Given the description of an element on the screen output the (x, y) to click on. 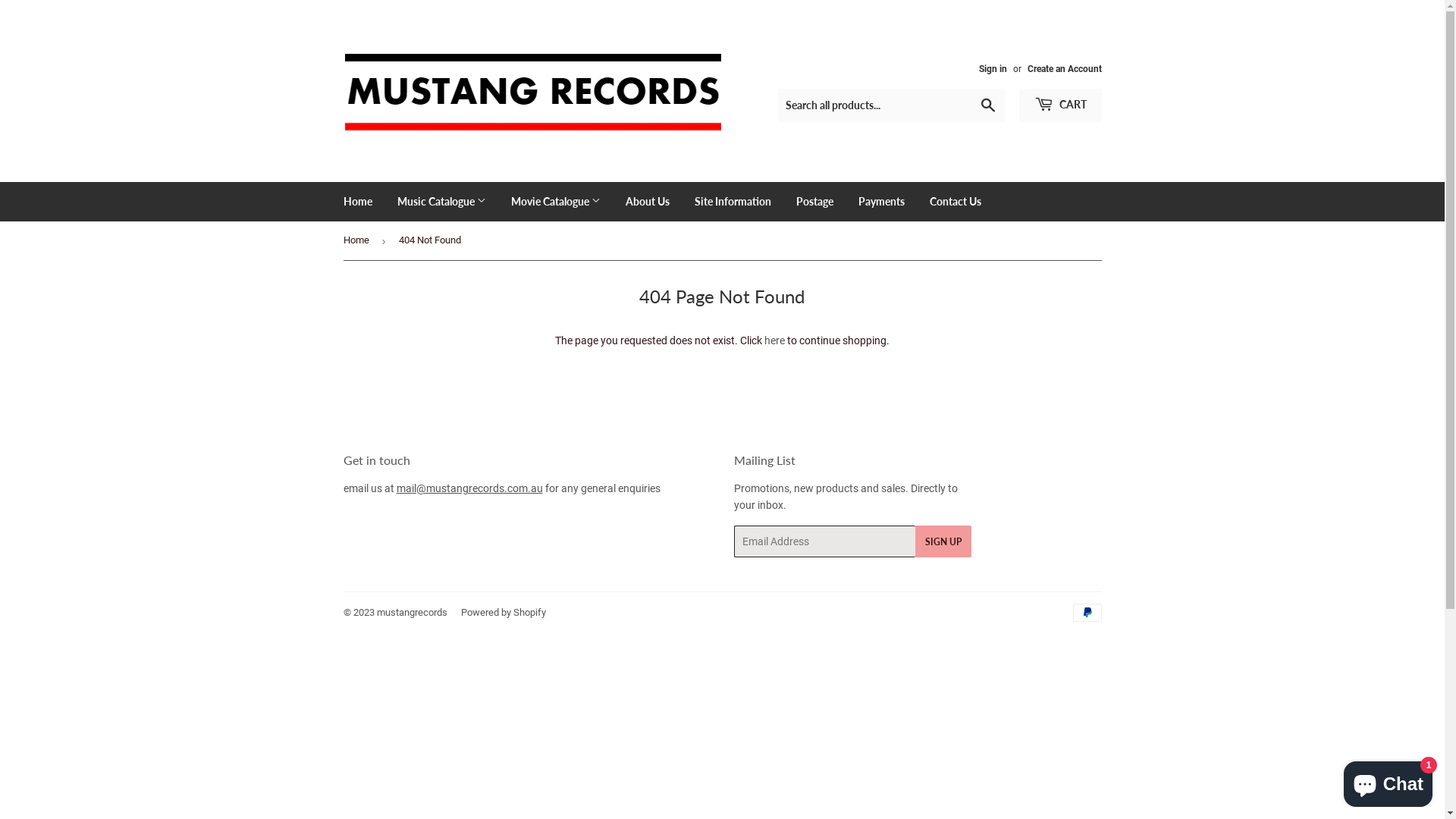
Sign in Element type: text (992, 68)
Payments Element type: text (880, 201)
Music Catalogue Element type: text (440, 201)
Search Element type: text (987, 106)
SIGN UP Element type: text (943, 541)
Contact Us Element type: text (954, 201)
Postage Element type: text (814, 201)
Powered by Shopify Element type: text (503, 612)
Shopify online store chat Element type: hover (1388, 780)
Home Element type: text (357, 201)
Site Information Element type: text (731, 201)
Create an Account Element type: text (1063, 68)
mustangrecords Element type: text (411, 612)
Movie Catalogue Element type: text (554, 201)
About Us Element type: text (647, 201)
Home Element type: text (357, 240)
here Element type: text (774, 340)
CART Element type: text (1060, 105)
